Given the description of an element on the screen output the (x, y) to click on. 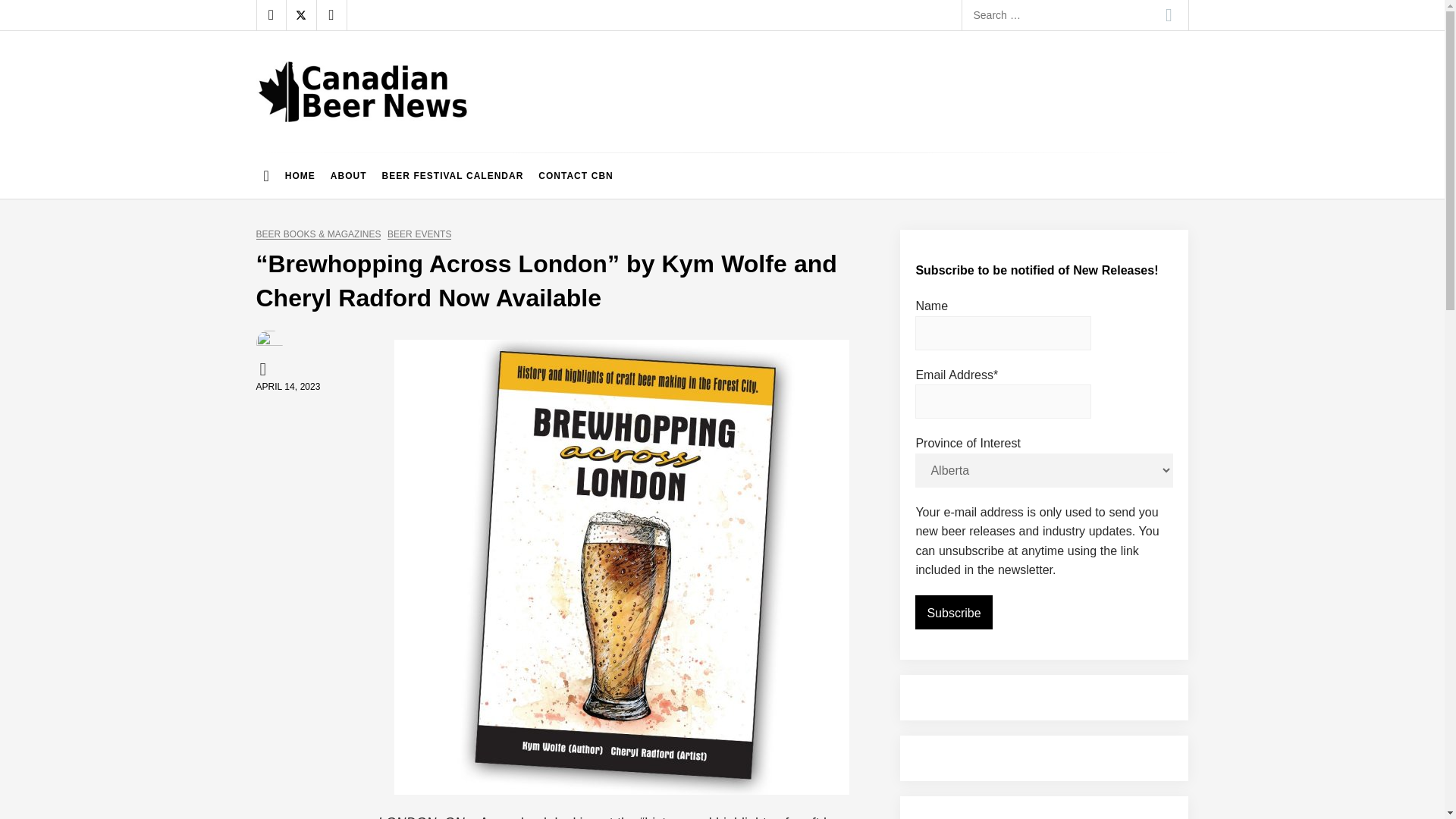
Search (1169, 15)
HOME (300, 176)
APRIL 14, 2023 (288, 386)
BEER FESTIVAL CALENDAR (452, 176)
CONTACT CBN (575, 176)
Subscribe (953, 612)
Search (1169, 15)
CBN (265, 368)
Canadian Beer News (384, 136)
Search (1169, 15)
